Given the description of an element on the screen output the (x, y) to click on. 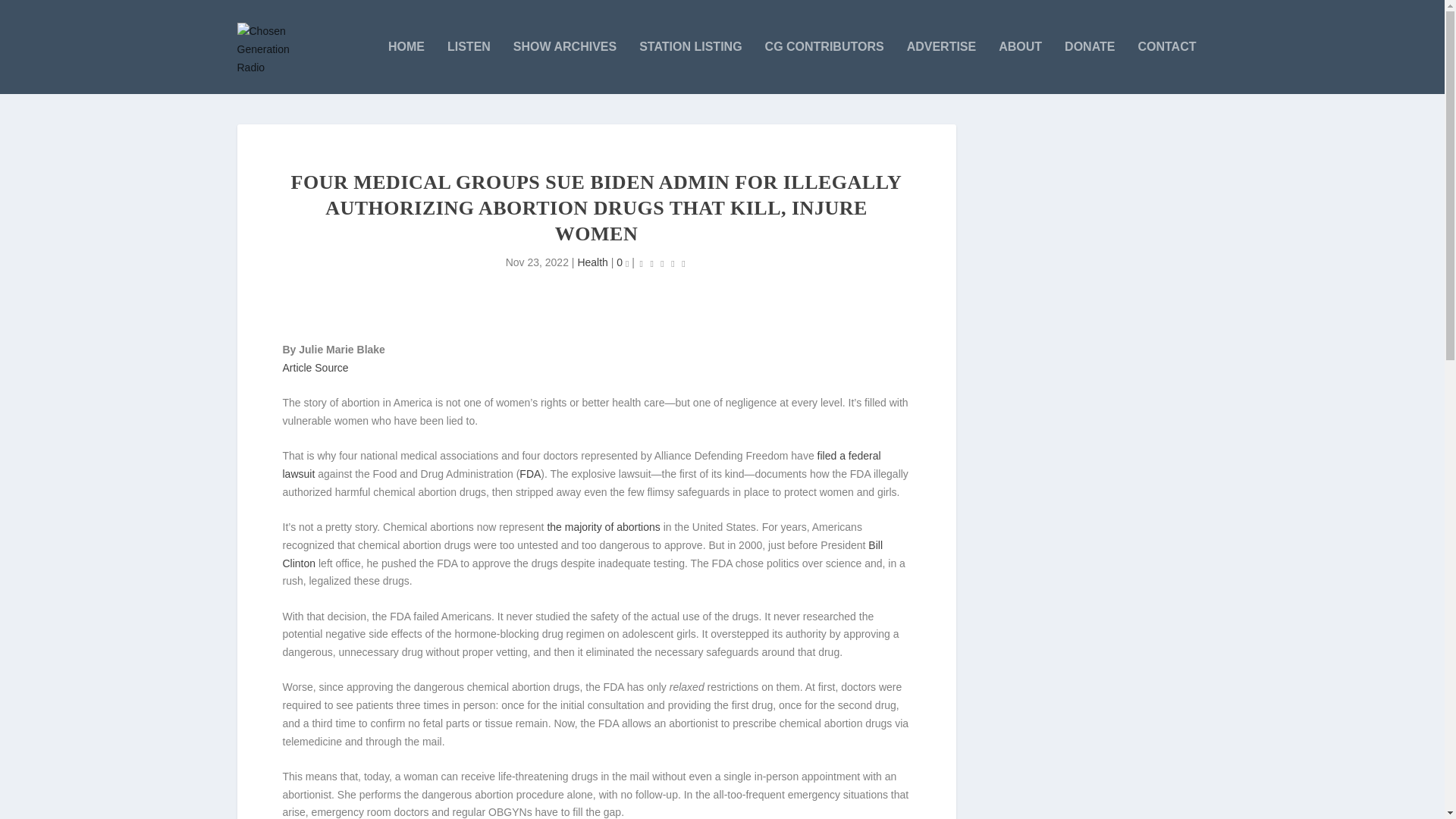
filed a federal lawsuit (581, 464)
Bill Clinton (582, 553)
ADVERTISE (941, 67)
FDA (529, 473)
Health (591, 262)
HOME (406, 67)
LISTEN (468, 67)
STATION LISTING (690, 67)
SHOW ARCHIVES (564, 67)
DONATE (1089, 67)
the majority of abortions (603, 526)
CONTACT (1166, 67)
Article Source (314, 367)
0 (621, 262)
Rating: 4.00 (662, 262)
